Given the description of an element on the screen output the (x, y) to click on. 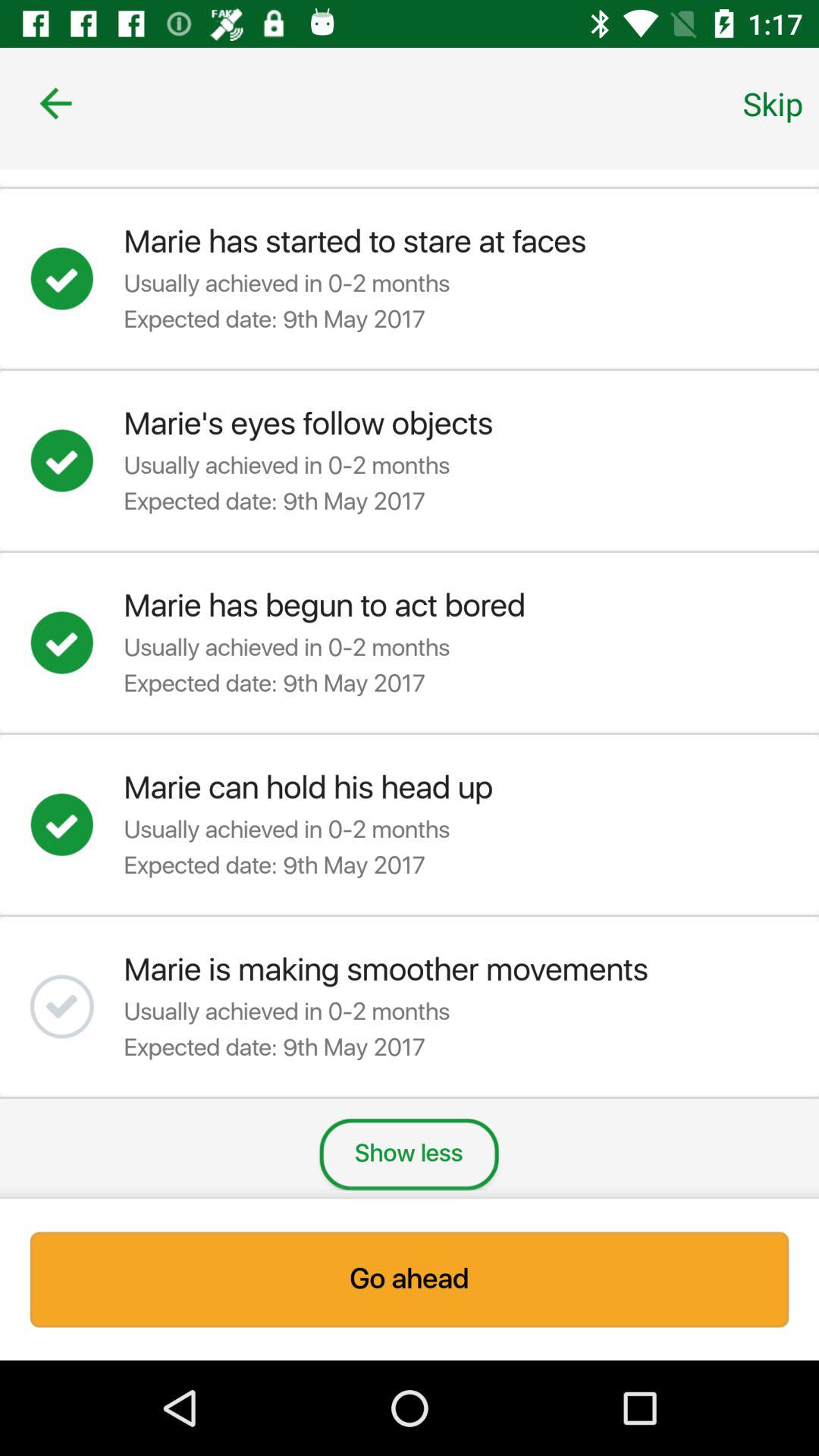
selects a particular function (76, 642)
